Given the description of an element on the screen output the (x, y) to click on. 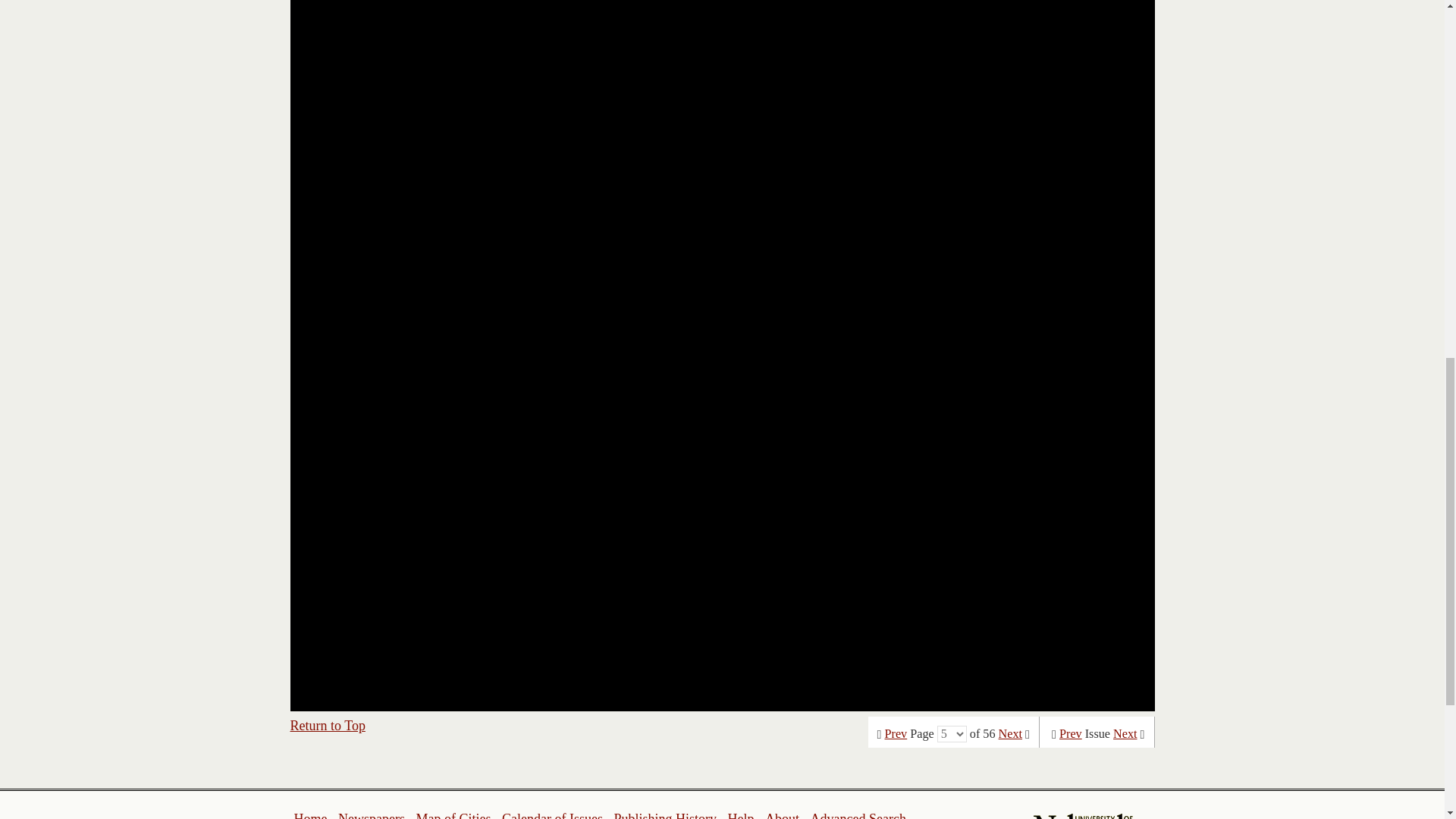
Help (740, 815)
Next (1010, 734)
Newspapers (370, 815)
Advanced Search (857, 815)
Map of Cities (452, 815)
Calendar of Issues (552, 815)
Publishing History (664, 815)
Next (1125, 734)
Prev (896, 734)
Home (310, 815)
